Given the description of an element on the screen output the (x, y) to click on. 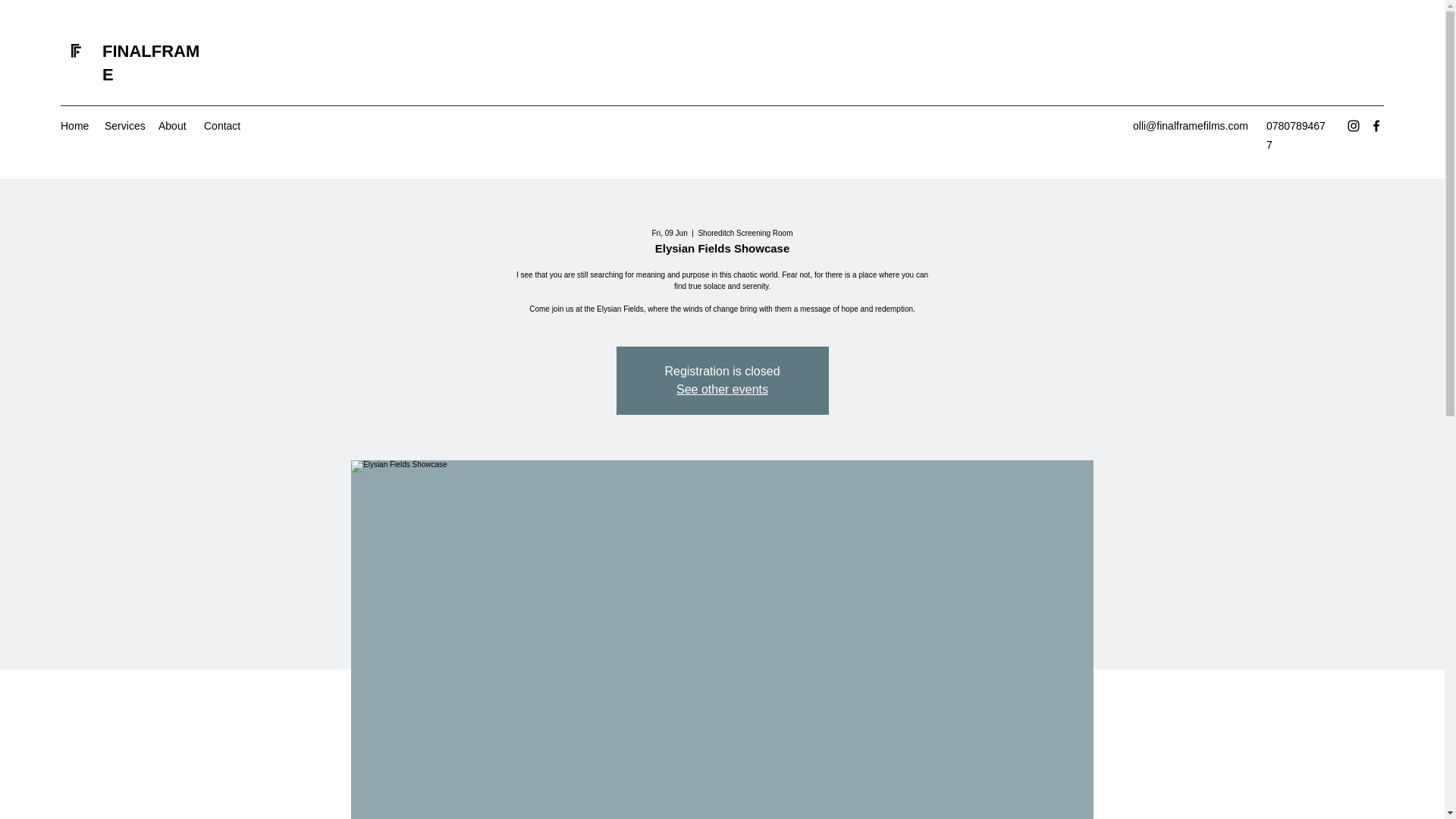
Services (124, 125)
About (173, 125)
Home (74, 125)
FINALFRAME (150, 62)
See other events (722, 389)
Contact (222, 125)
